Given the description of an element on the screen output the (x, y) to click on. 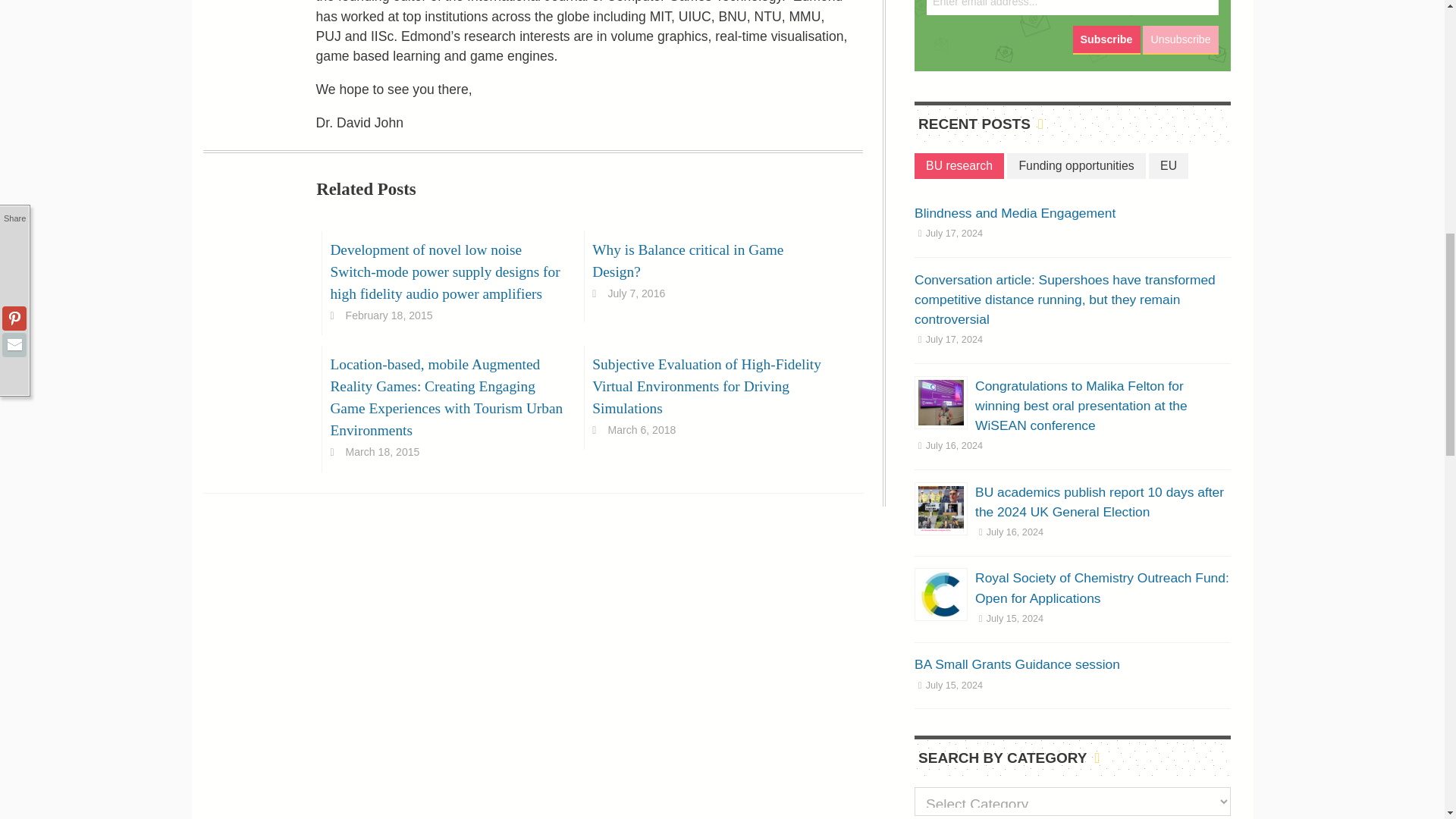
Subscribe (1106, 39)
Unsubscribe (1179, 39)
Enter email address... (1072, 7)
